Given the description of an element on the screen output the (x, y) to click on. 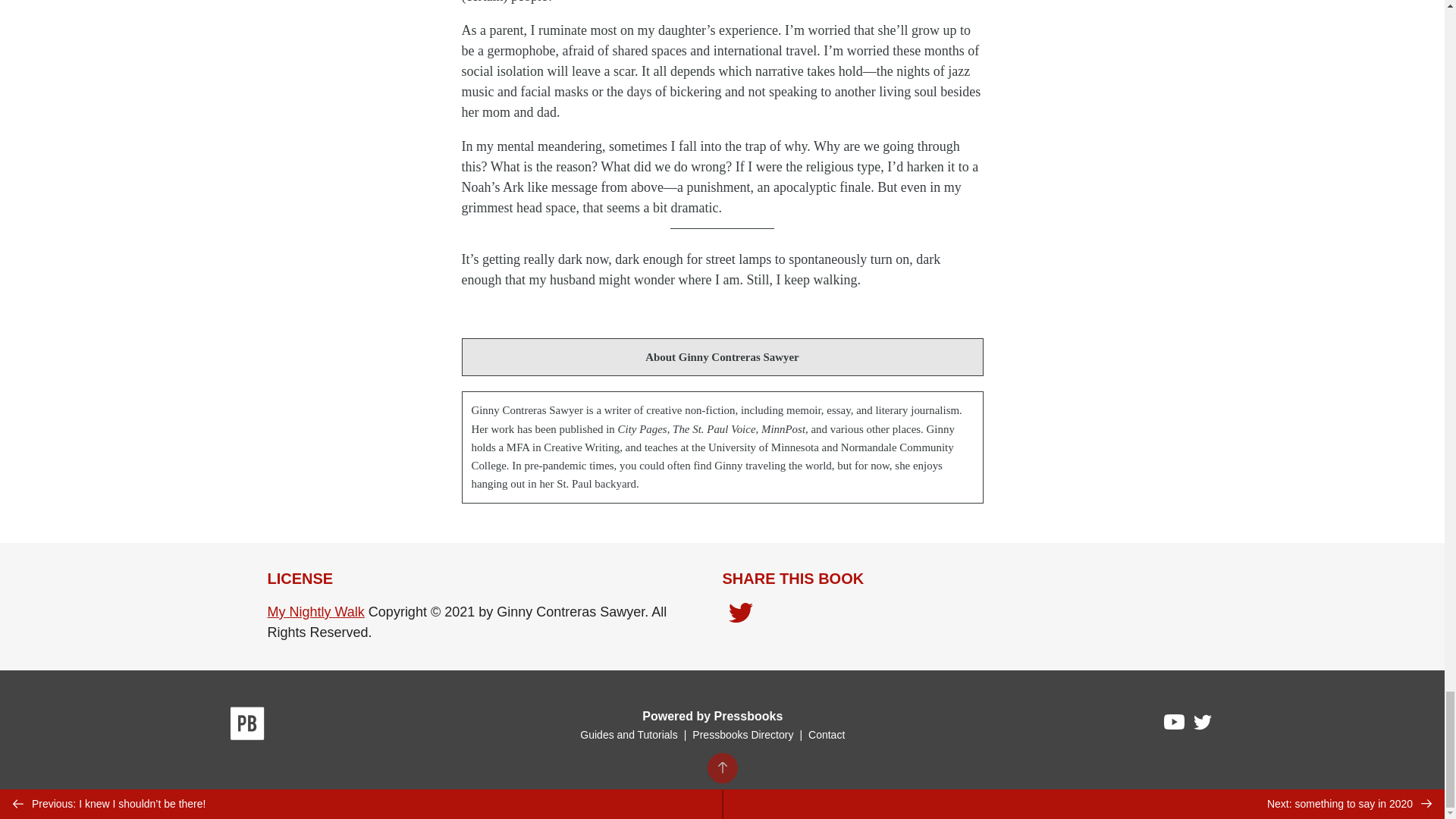
Guides and Tutorials (627, 734)
My Nightly Walk (315, 611)
Pressbooks on YouTube (1174, 725)
Pressbooks Directory (742, 734)
Share on Twitter (740, 616)
Share on Twitter (740, 613)
Contact (826, 734)
Powered by Pressbooks (712, 716)
